Given the description of an element on the screen output the (x, y) to click on. 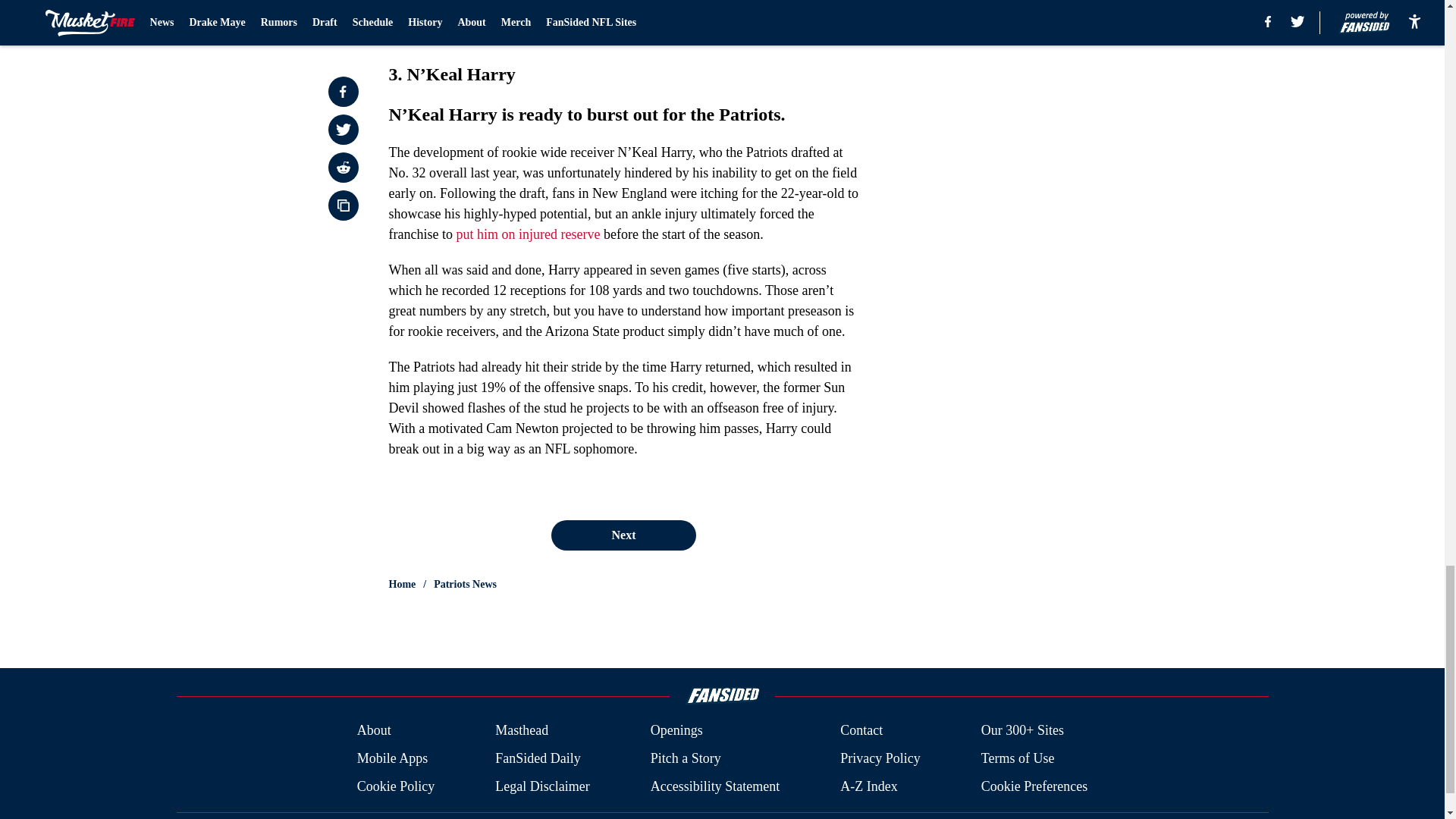
Openings (676, 730)
About (373, 730)
Masthead (521, 730)
Contact (861, 730)
FanSided Daily (537, 758)
Mobile Apps (392, 758)
Home (401, 584)
Next (622, 535)
put him on injured reserve (527, 233)
Pitch a Story (685, 758)
Patriots News (464, 584)
